Given the description of an element on the screen output the (x, y) to click on. 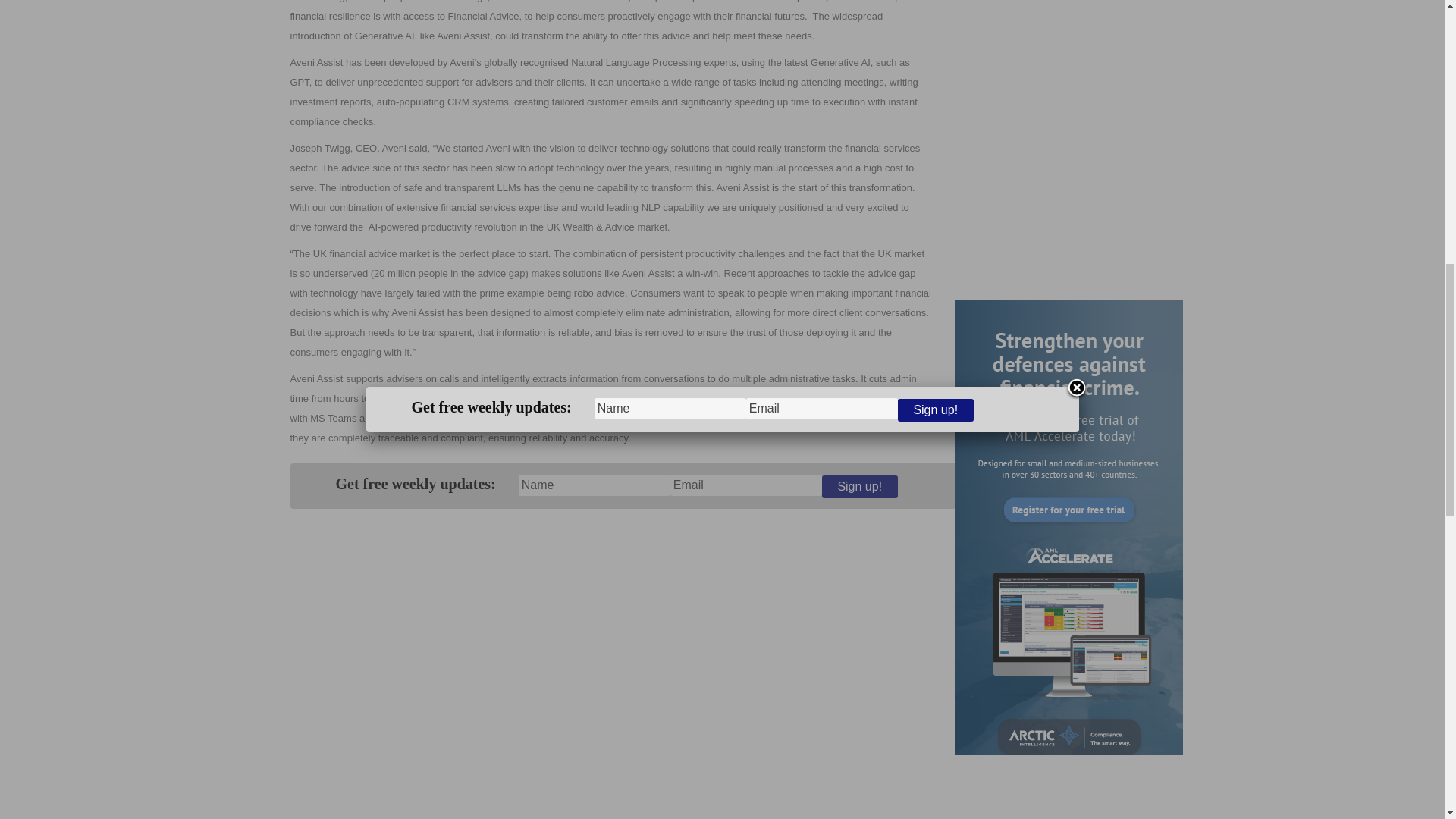
Advertisement (1054, 138)
Sign up! (860, 486)
Sign up! (860, 486)
